Given the description of an element on the screen output the (x, y) to click on. 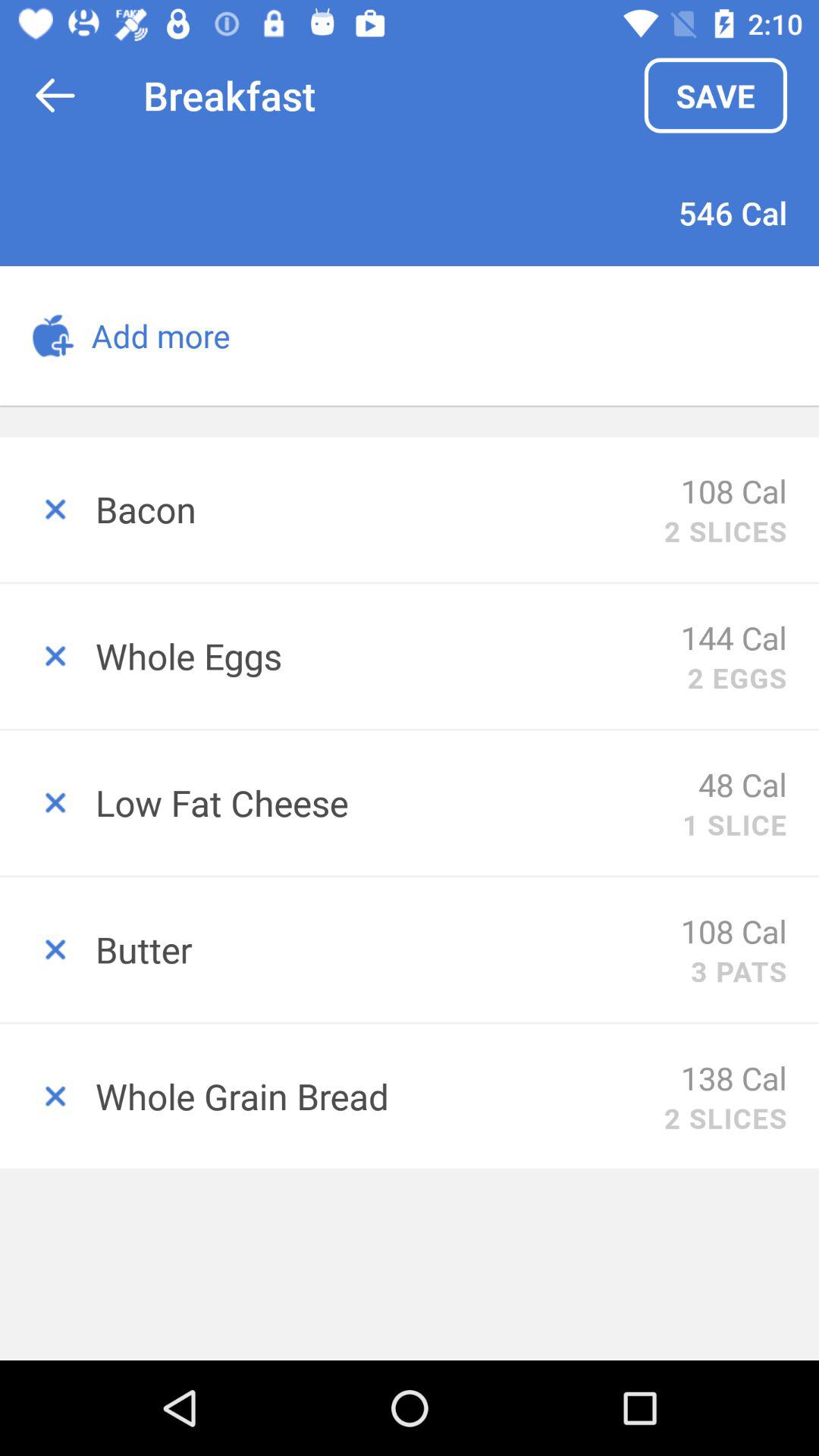
open item to the right of whole grain bread item (733, 1077)
